Given the description of an element on the screen output the (x, y) to click on. 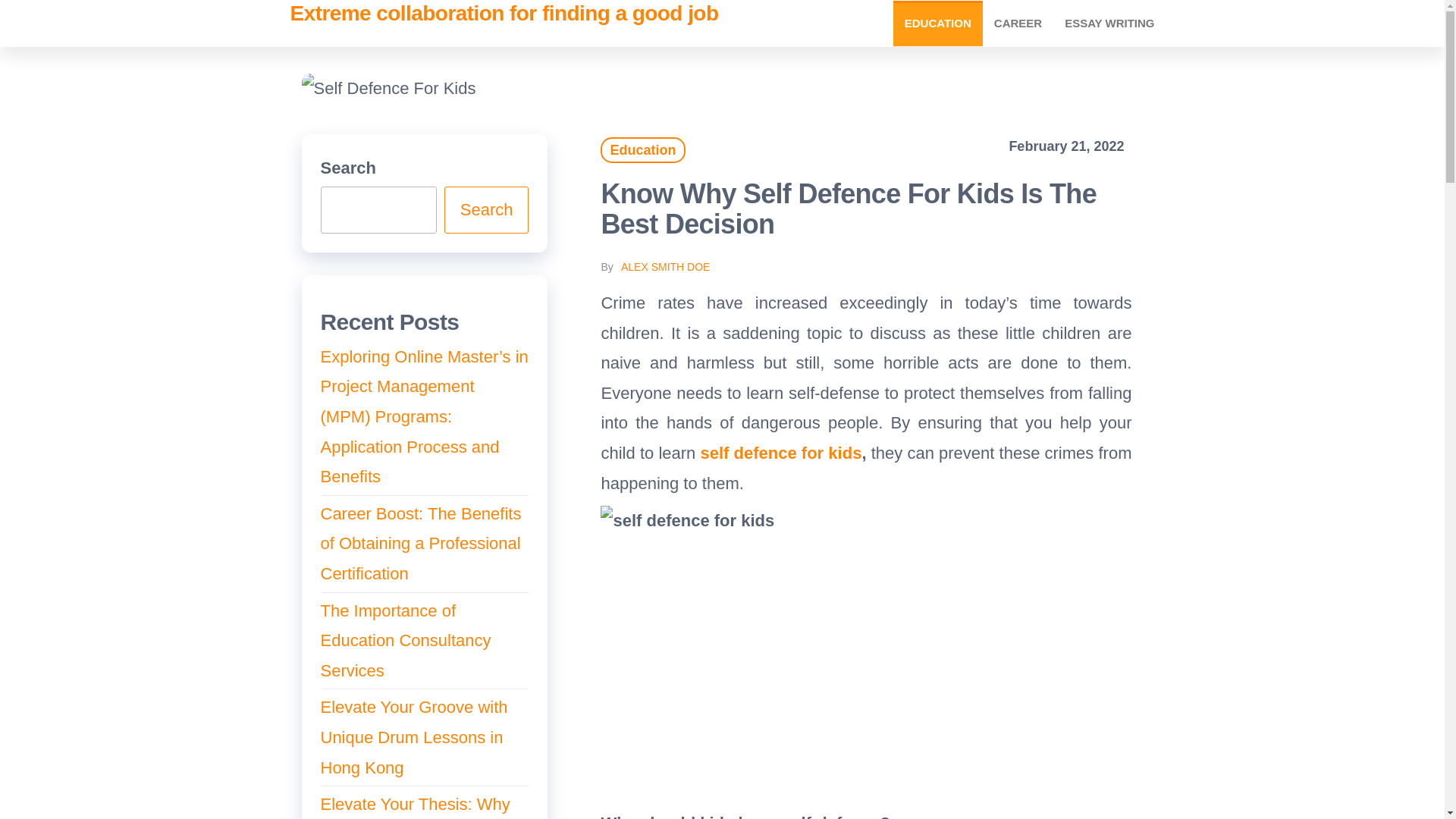
self defence for kids (780, 452)
The Importance of Education Consultancy Services (405, 640)
Extreme collaboration for finding a good job (503, 13)
CAREER (1017, 22)
ALEX SMITH DOE (665, 266)
Education (937, 22)
Education (641, 149)
EDUCATION (937, 22)
Search (486, 209)
Career (1017, 22)
Essay writing (1109, 22)
ESSAY WRITING (1109, 22)
Elevate Your Groove with Unique Drum Lessons in Hong Kong (413, 736)
